Given the description of an element on the screen output the (x, y) to click on. 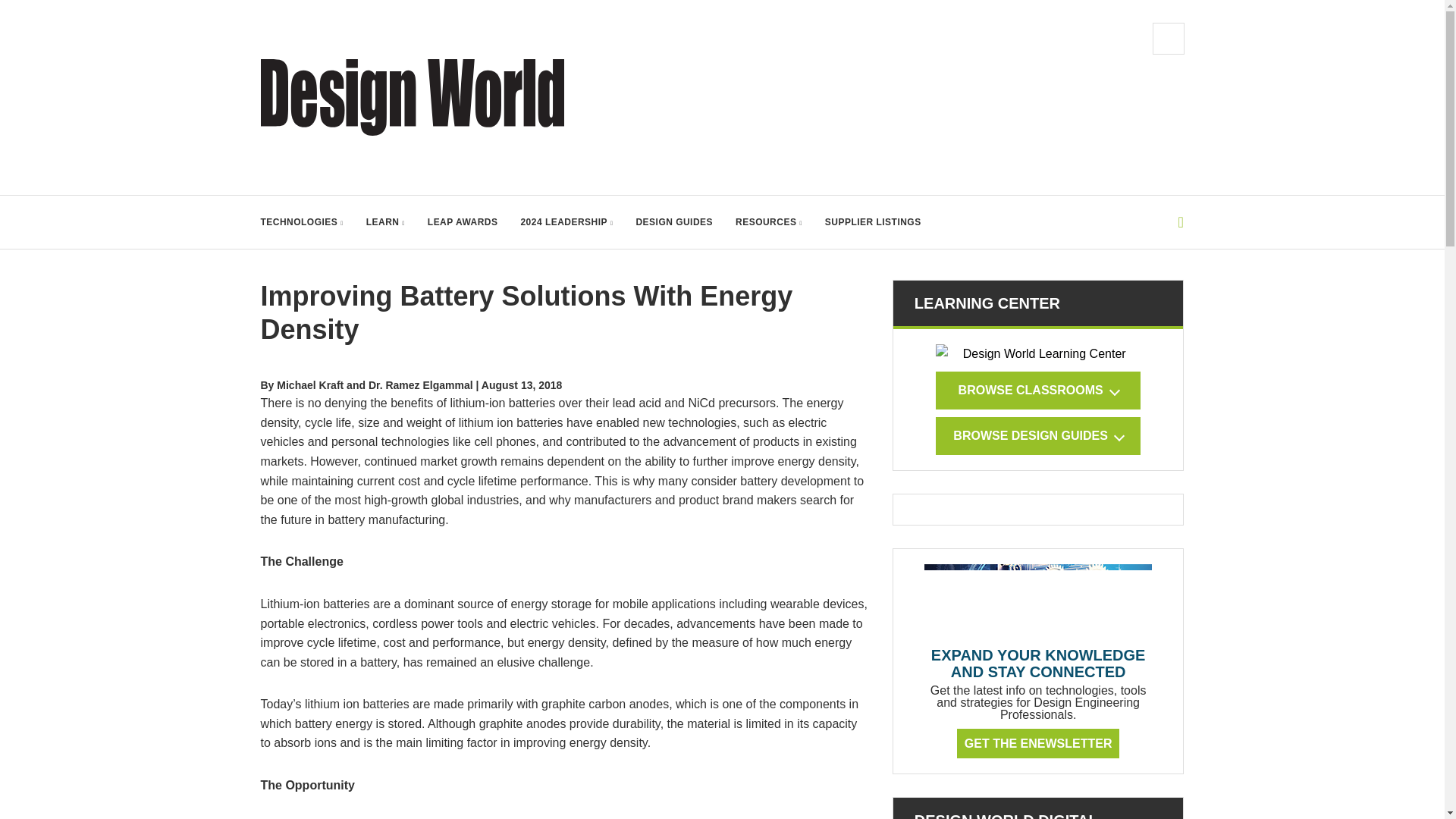
LEAP AWARDS (462, 221)
2024 LEADERSHIP (565, 221)
RESOURCES (768, 221)
Design World (412, 96)
TECHNOLOGIES (301, 221)
SUPPLIER LISTINGS (873, 221)
DESIGN GUIDES (673, 221)
